Given the description of an element on the screen output the (x, y) to click on. 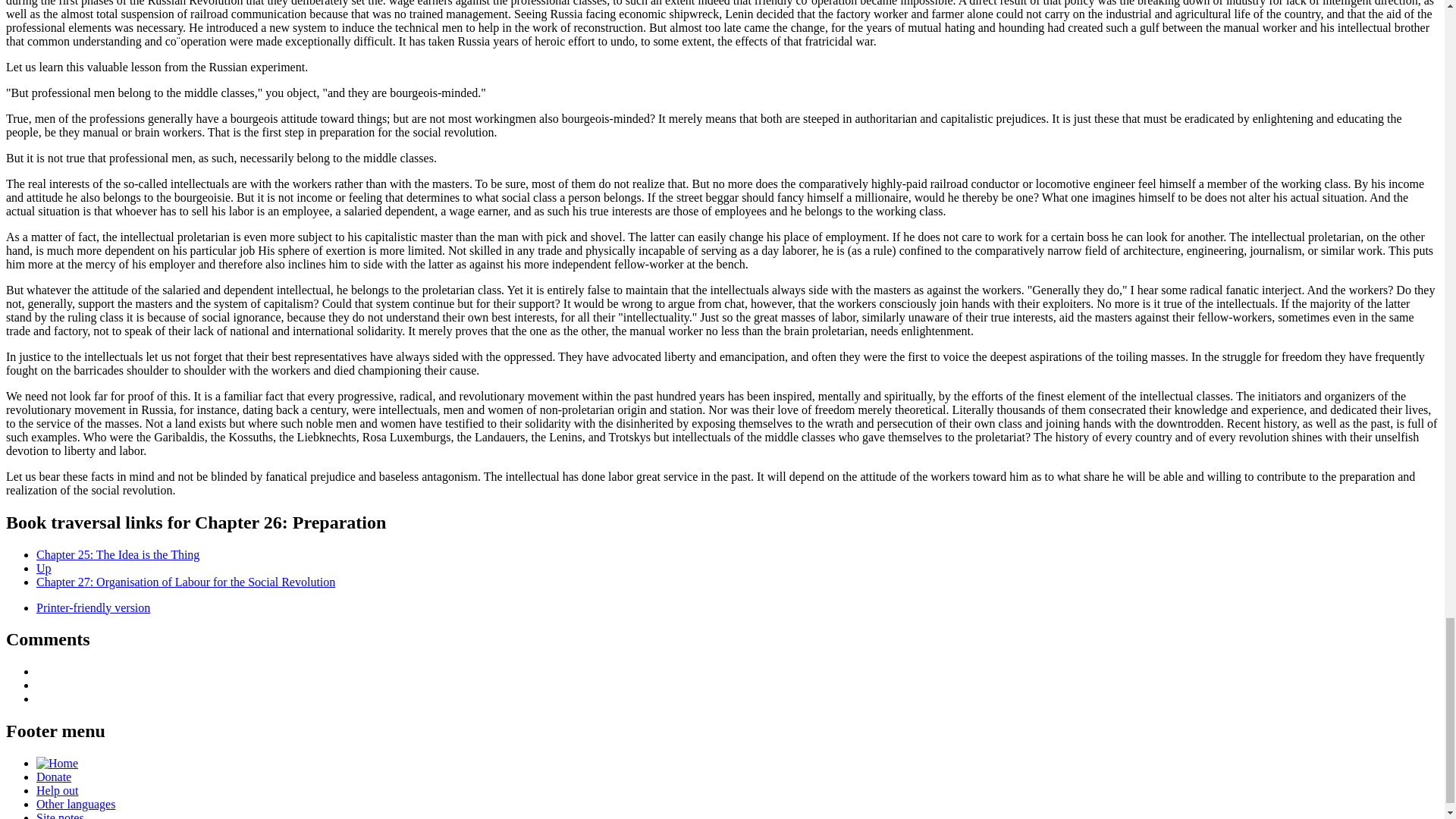
Donate (53, 776)
Go to previous page (117, 553)
Go to parent page (43, 567)
Go to next page (185, 581)
Help out (57, 789)
libcom content in languages other than English (75, 803)
Chapter 27: Organisation of Labour for the Social Revolution (185, 581)
Printer-friendly version (92, 606)
Up (43, 567)
